Given the description of an element on the screen output the (x, y) to click on. 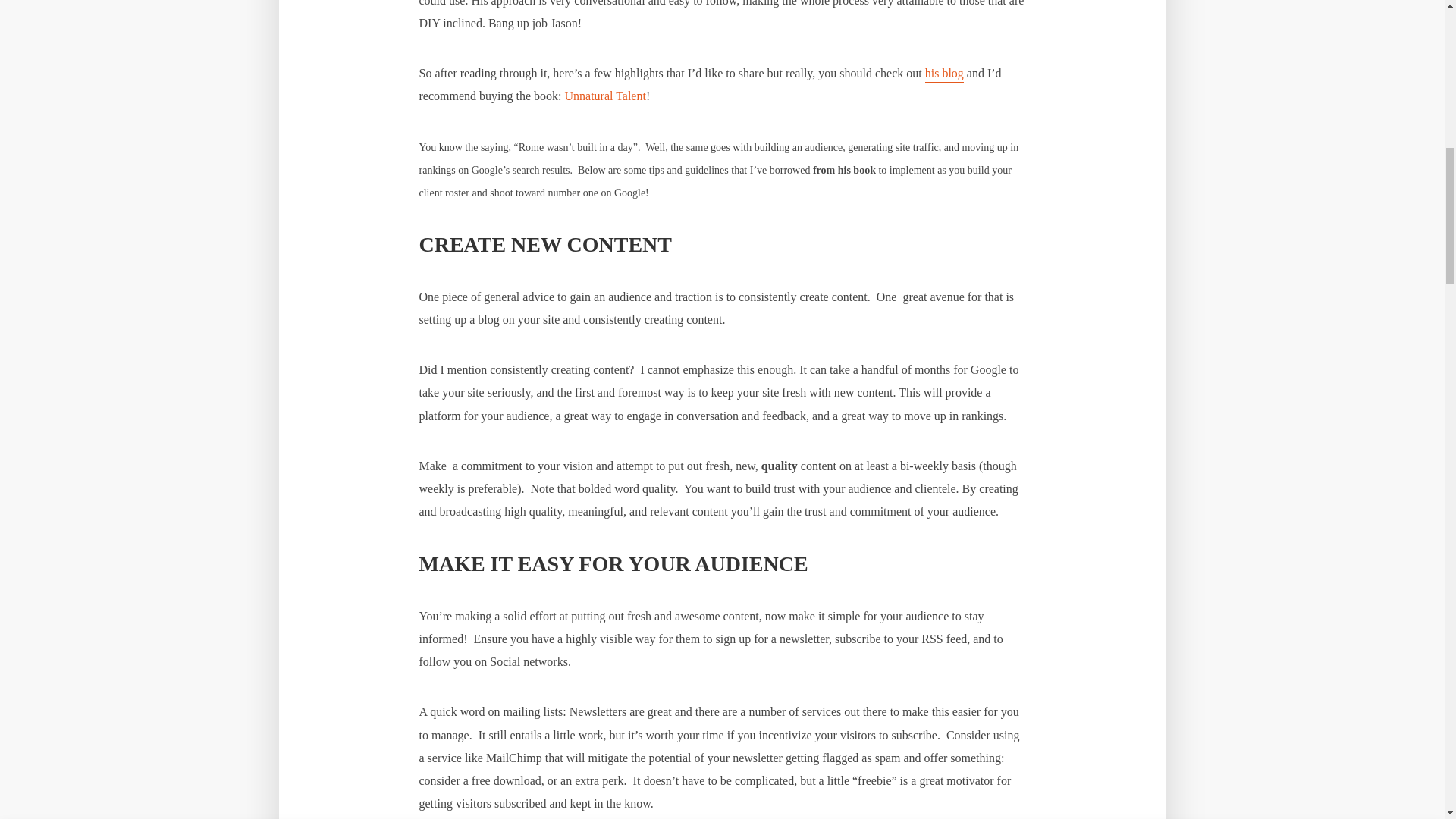
his blog (943, 74)
Remind Blog (943, 74)
Unnatural Talent (604, 97)
